Given the description of an element on the screen output the (x, y) to click on. 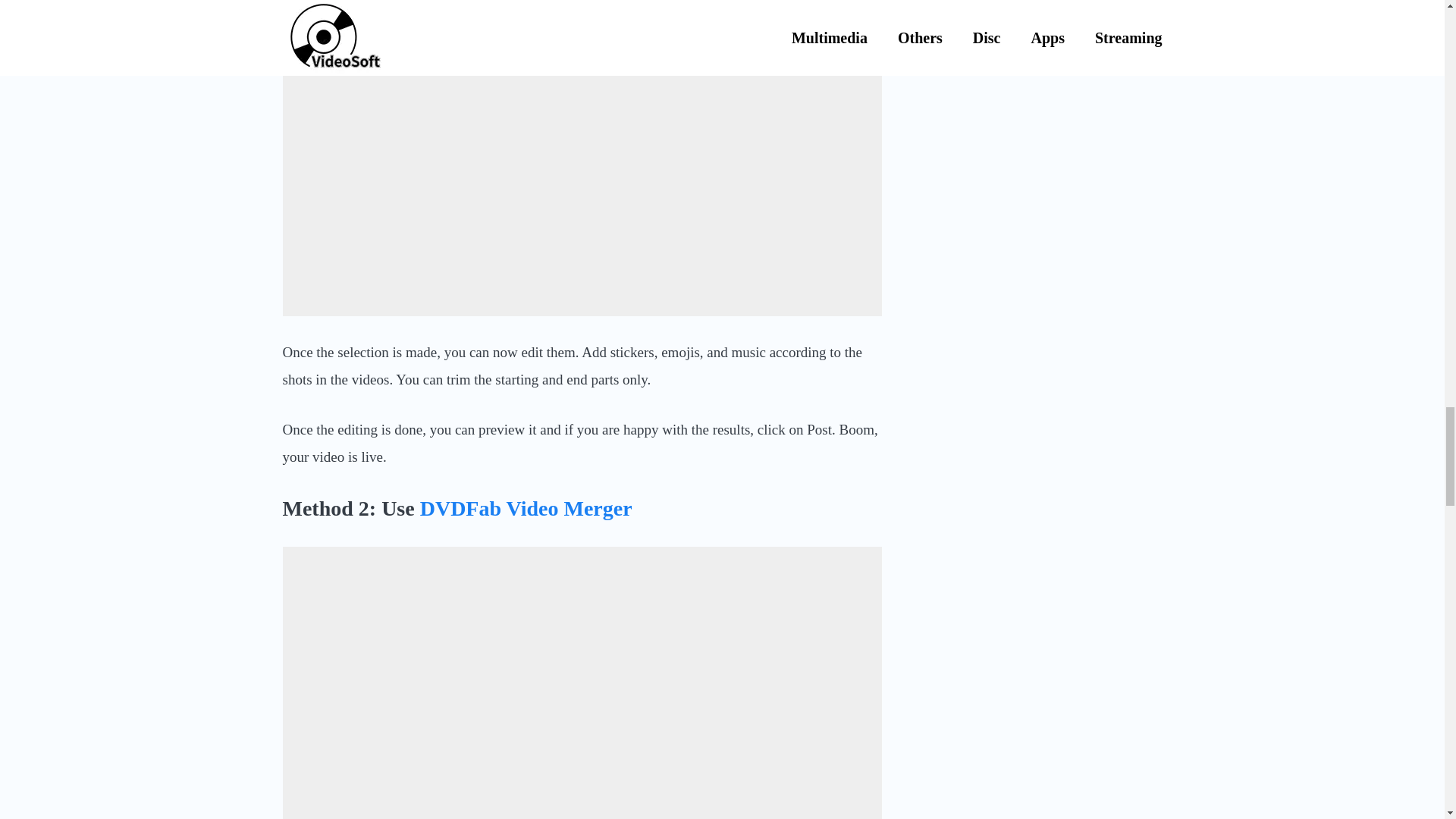
DVDFab Video Merger (525, 508)
